Given the description of an element on the screen output the (x, y) to click on. 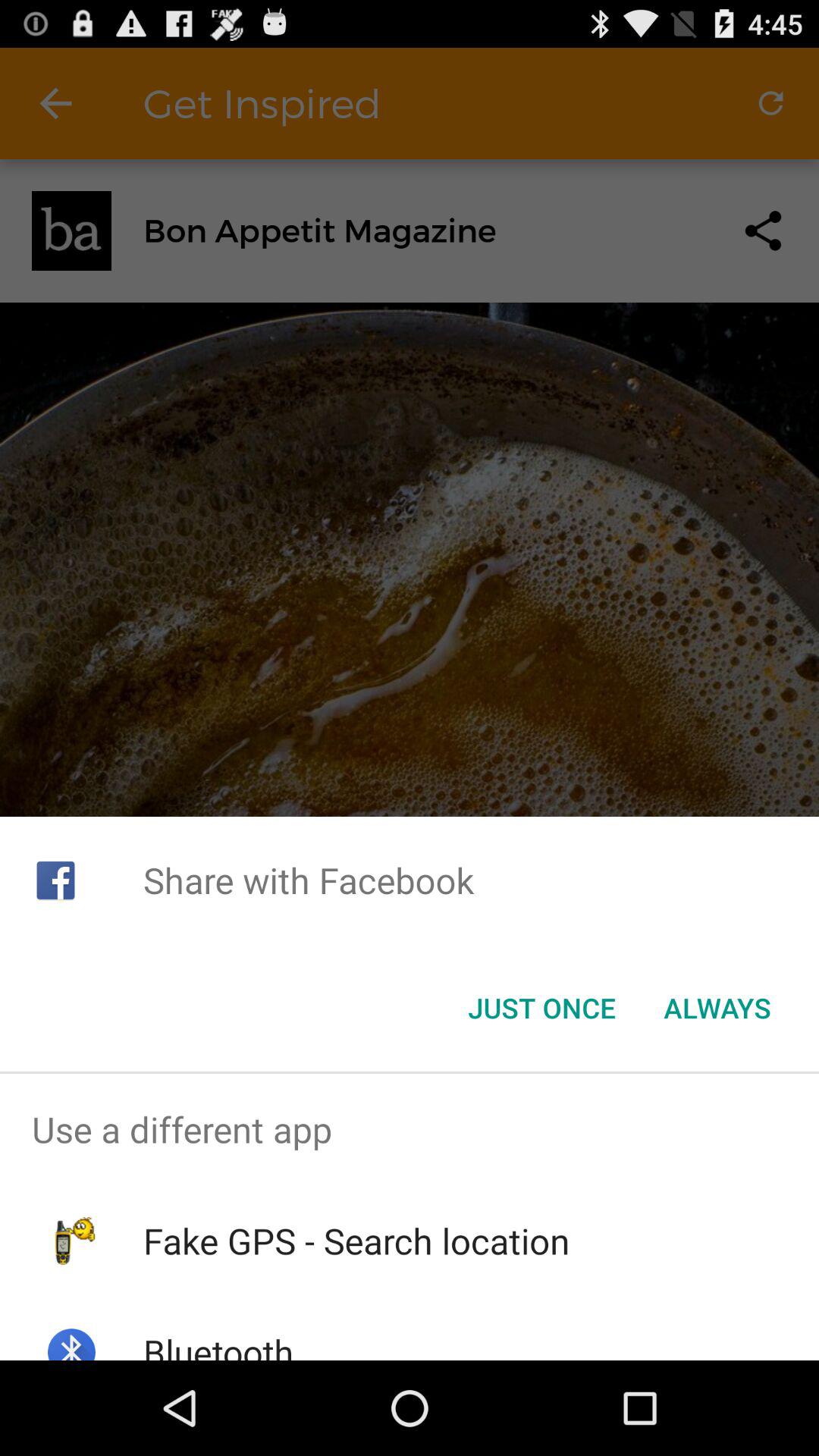
click item above bluetooth (356, 1240)
